Given the description of an element on the screen output the (x, y) to click on. 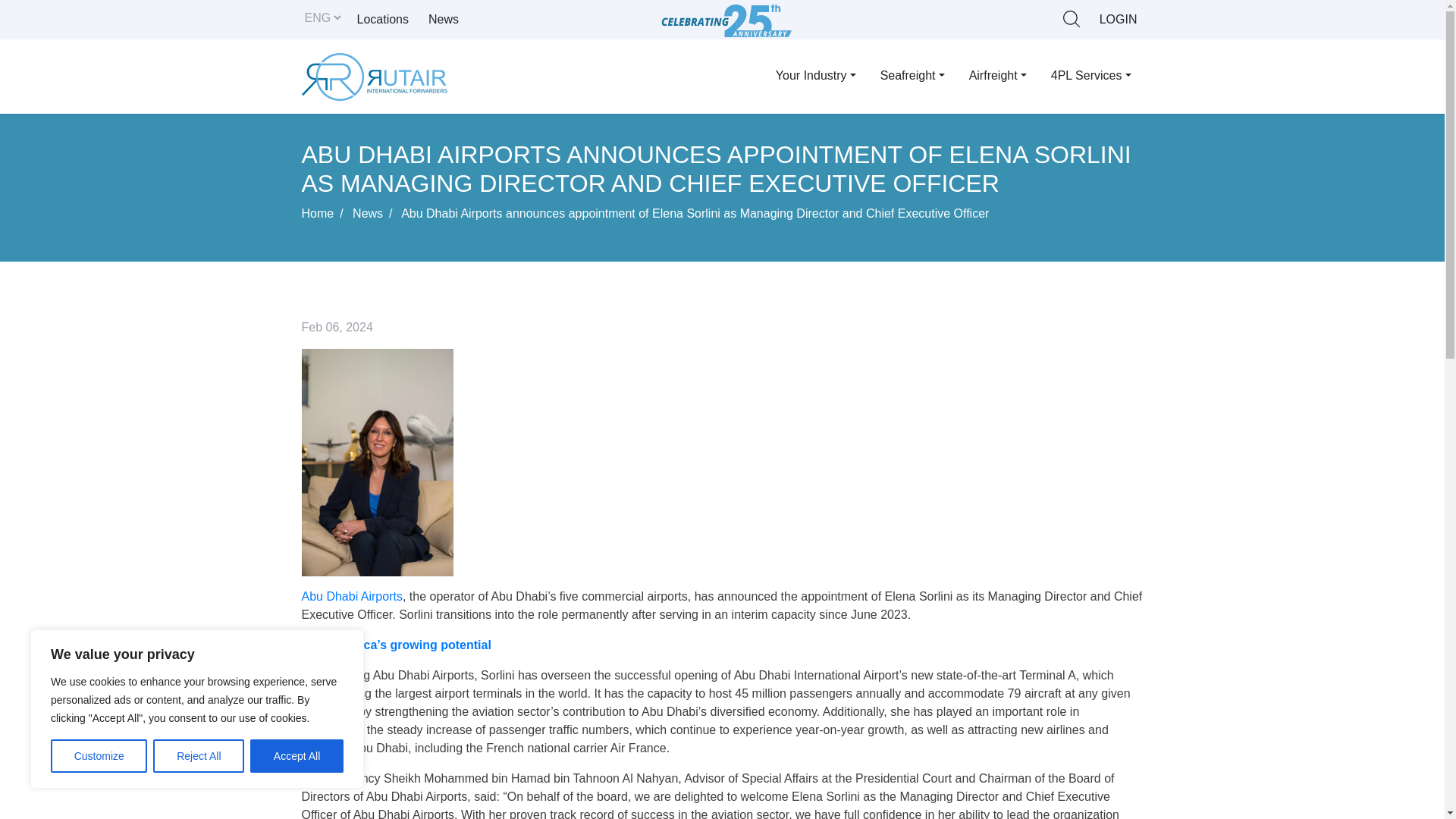
4PL Services (1090, 75)
Accept All (296, 756)
Reject All (198, 756)
Seafreight (911, 75)
Locations (382, 19)
LOGIN (1117, 19)
Airfreight (997, 75)
Your Industry (814, 75)
News (443, 19)
Customize (98, 756)
